Given the description of an element on the screen output the (x, y) to click on. 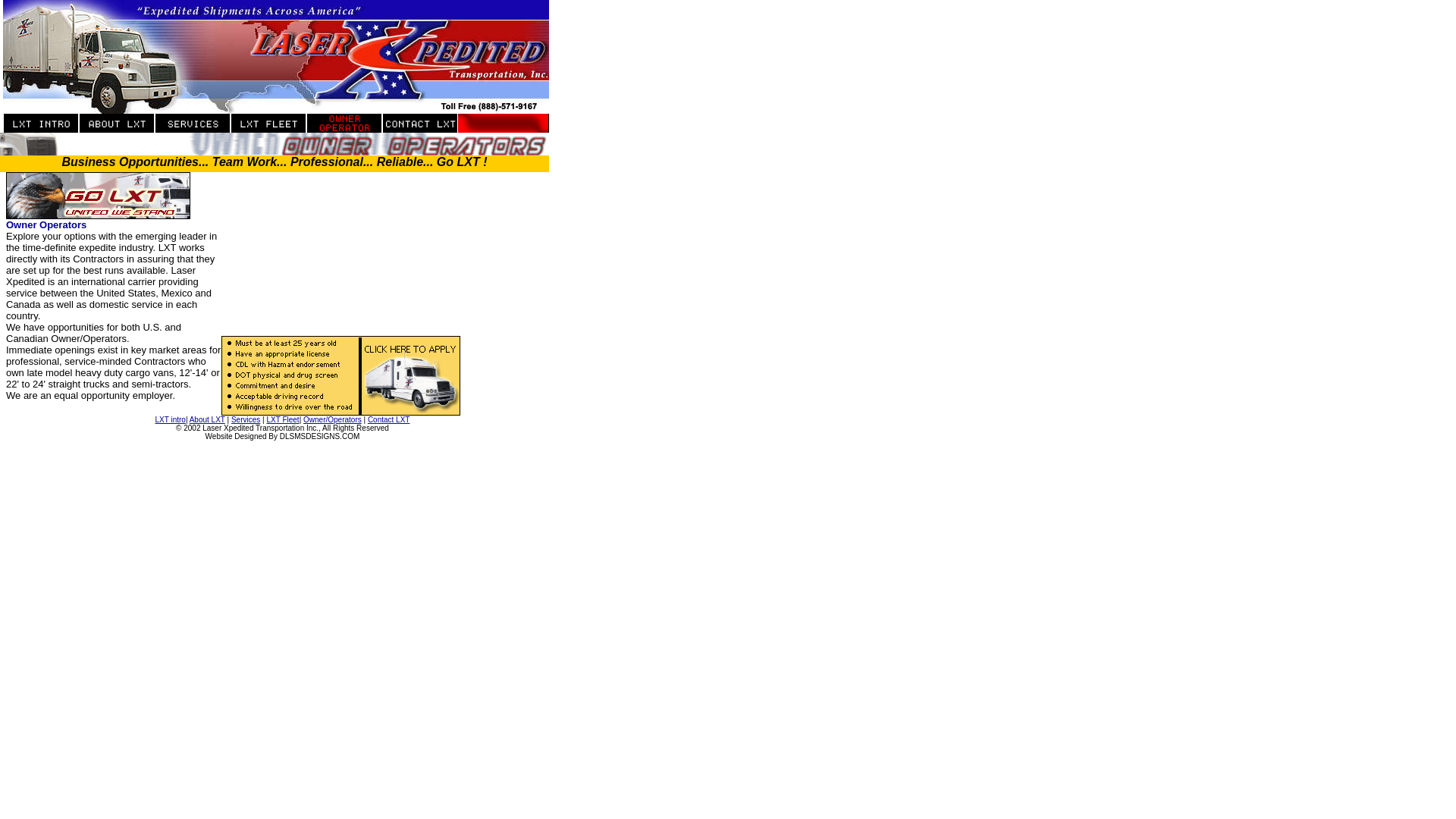
Contact LXT (389, 419)
LXT intro (169, 419)
Services (245, 419)
About LXT (207, 419)
LXT Fleet (282, 419)
